Given the description of an element on the screen output the (x, y) to click on. 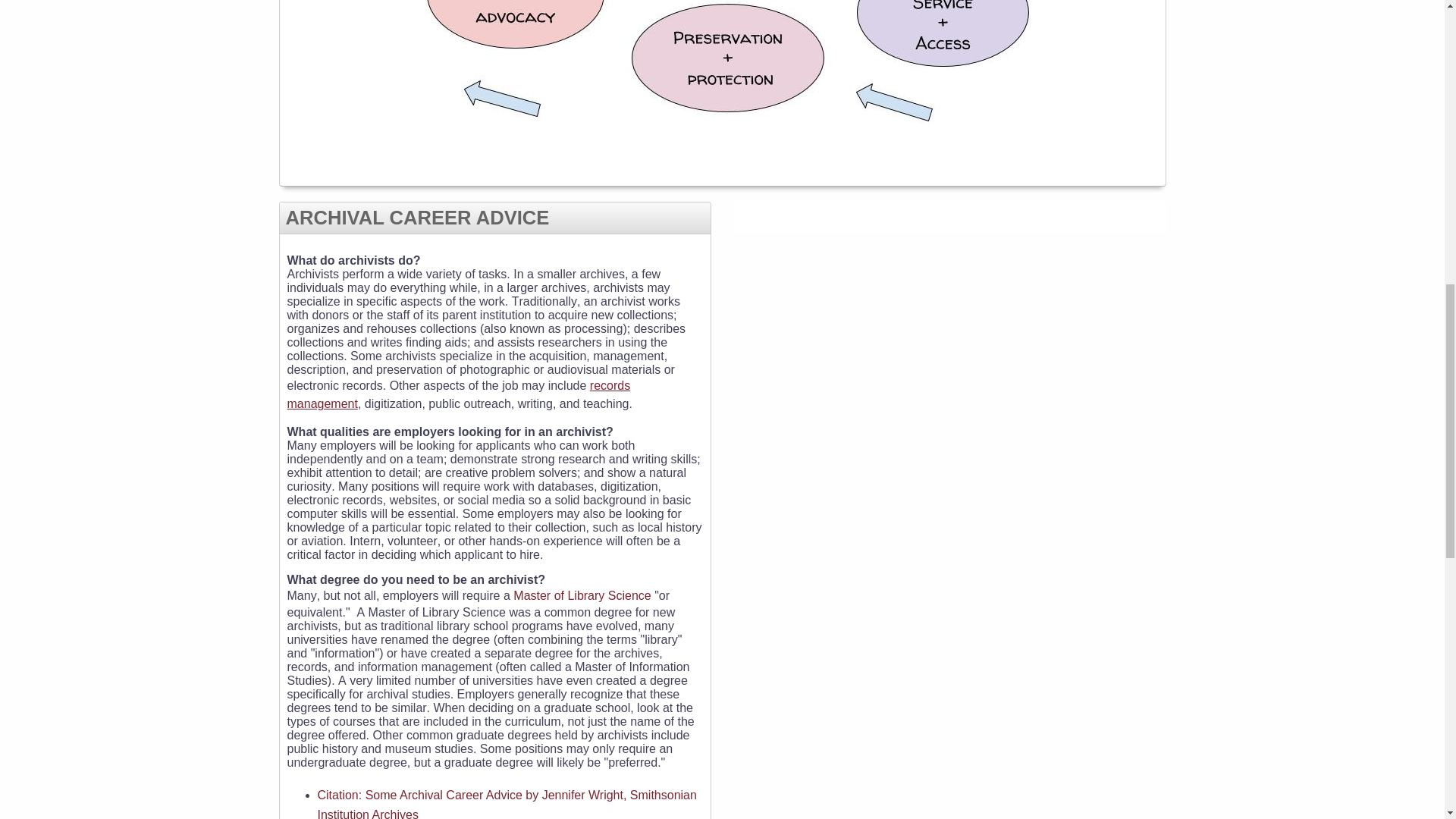
Master of Library Science (581, 594)
records management (458, 395)
